Given the description of an element on the screen output the (x, y) to click on. 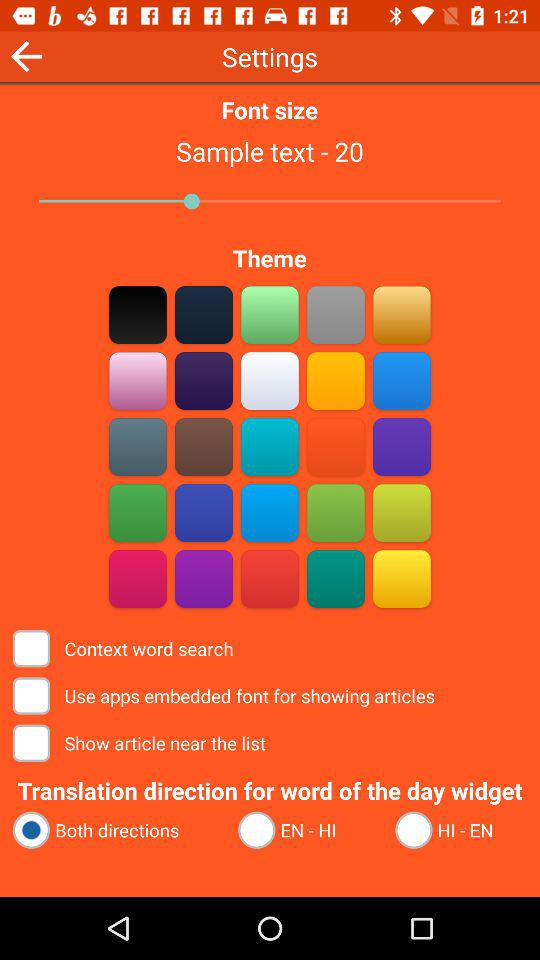
change theme color to dark blue (203, 512)
